Given the description of an element on the screen output the (x, y) to click on. 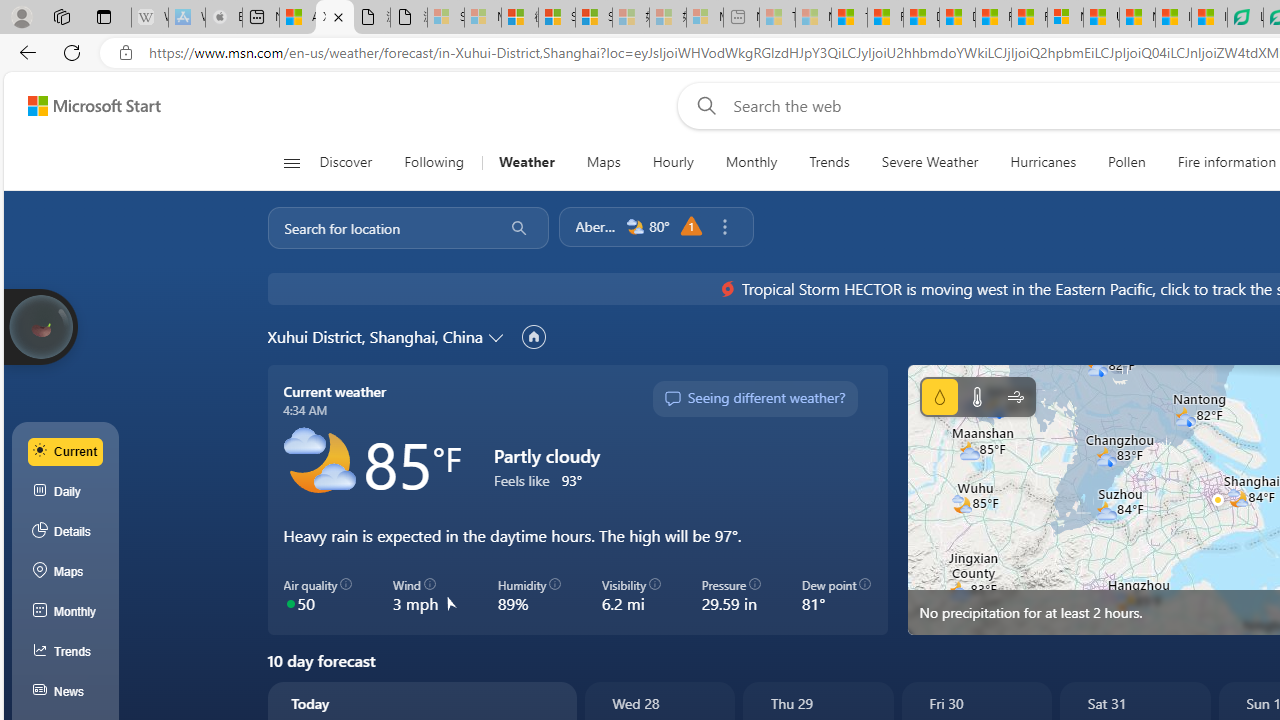
New tab - Sleeping (741, 17)
Food and Drink - MSN (884, 17)
Search for location (379, 227)
Monthly (65, 611)
Seeing different weather? (754, 398)
Sign in to your Microsoft account - Sleeping (445, 17)
Join us in planting real trees to help our planet! (40, 325)
Pollen (1126, 162)
Marine life - MSN - Sleeping (813, 17)
Skip to footer (82, 105)
Buy iPad - Apple - Sleeping (223, 17)
